Given the description of an element on the screen output the (x, y) to click on. 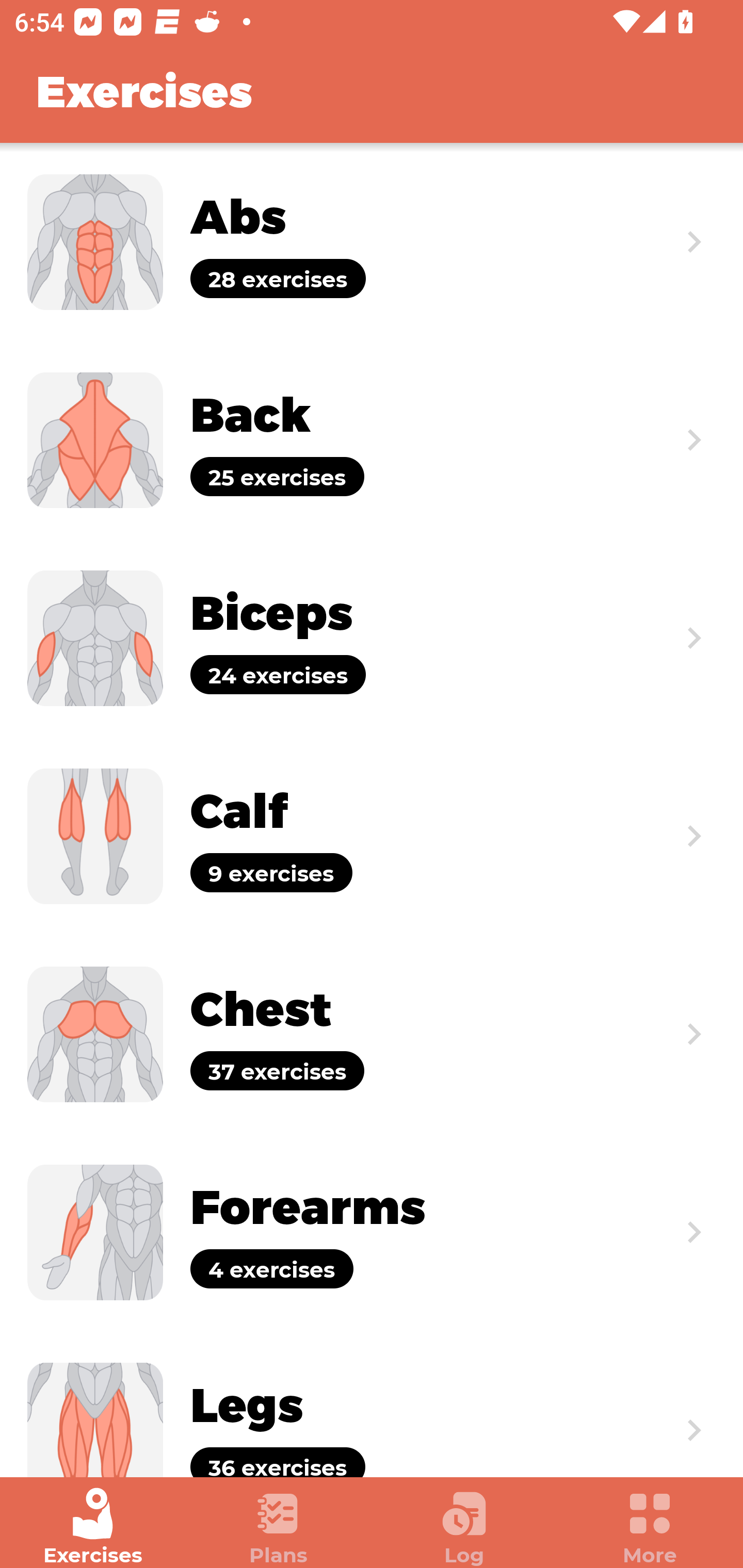
Exercise Abs 28 exercises (371, 241)
Exercise Back 25 exercises (371, 439)
Exercise Biceps 24 exercises (371, 637)
Exercise Calf 9 exercises (371, 836)
Exercise Chest 37 exercises (371, 1033)
Exercise Forearms 4 exercises (371, 1232)
Exercise Legs 36 exercises (371, 1404)
Exercises (92, 1527)
Plans (278, 1527)
Log (464, 1527)
More (650, 1527)
